Given the description of an element on the screen output the (x, y) to click on. 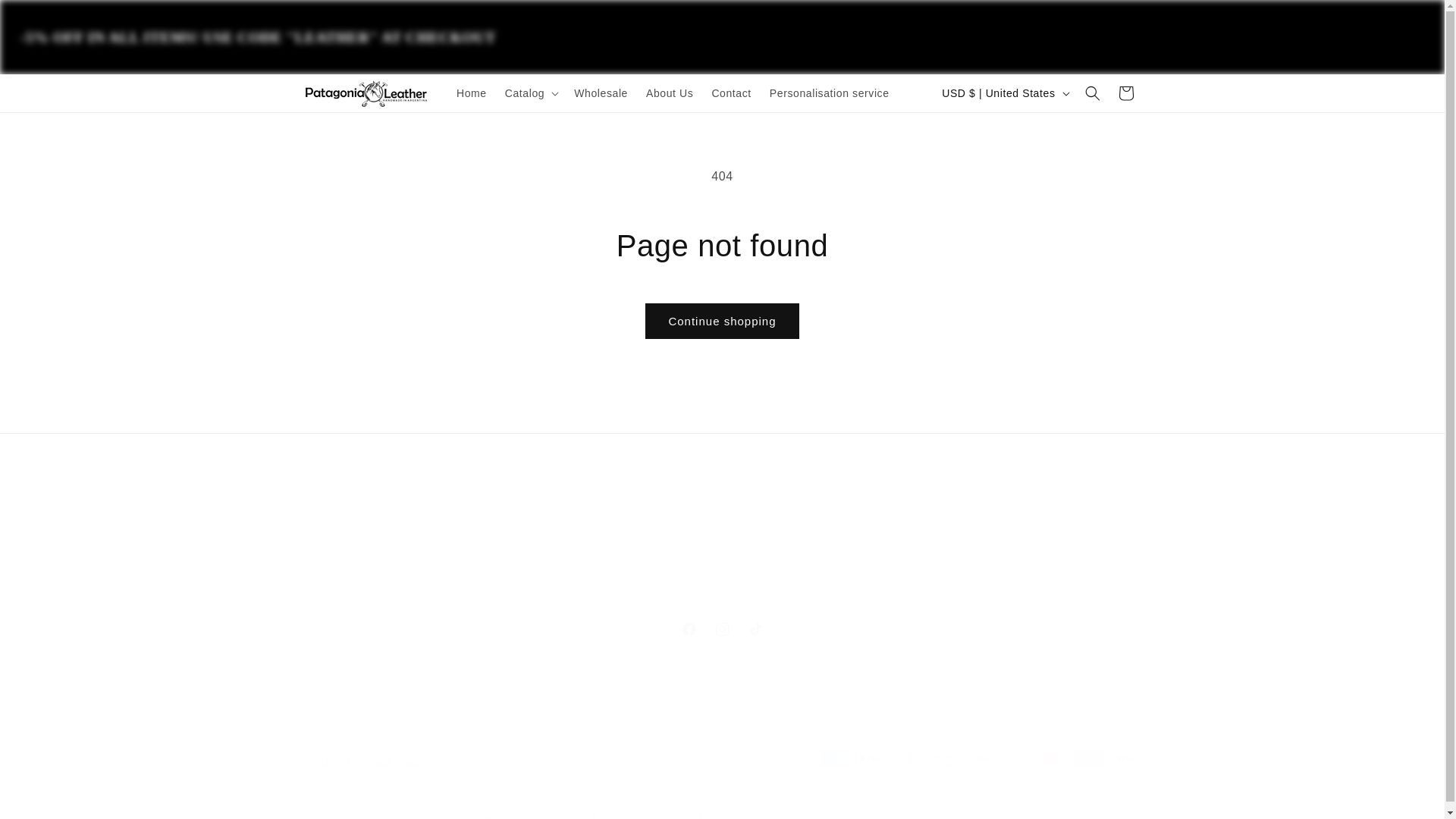
Skip to content (721, 629)
